Given the description of an element on the screen output the (x, y) to click on. 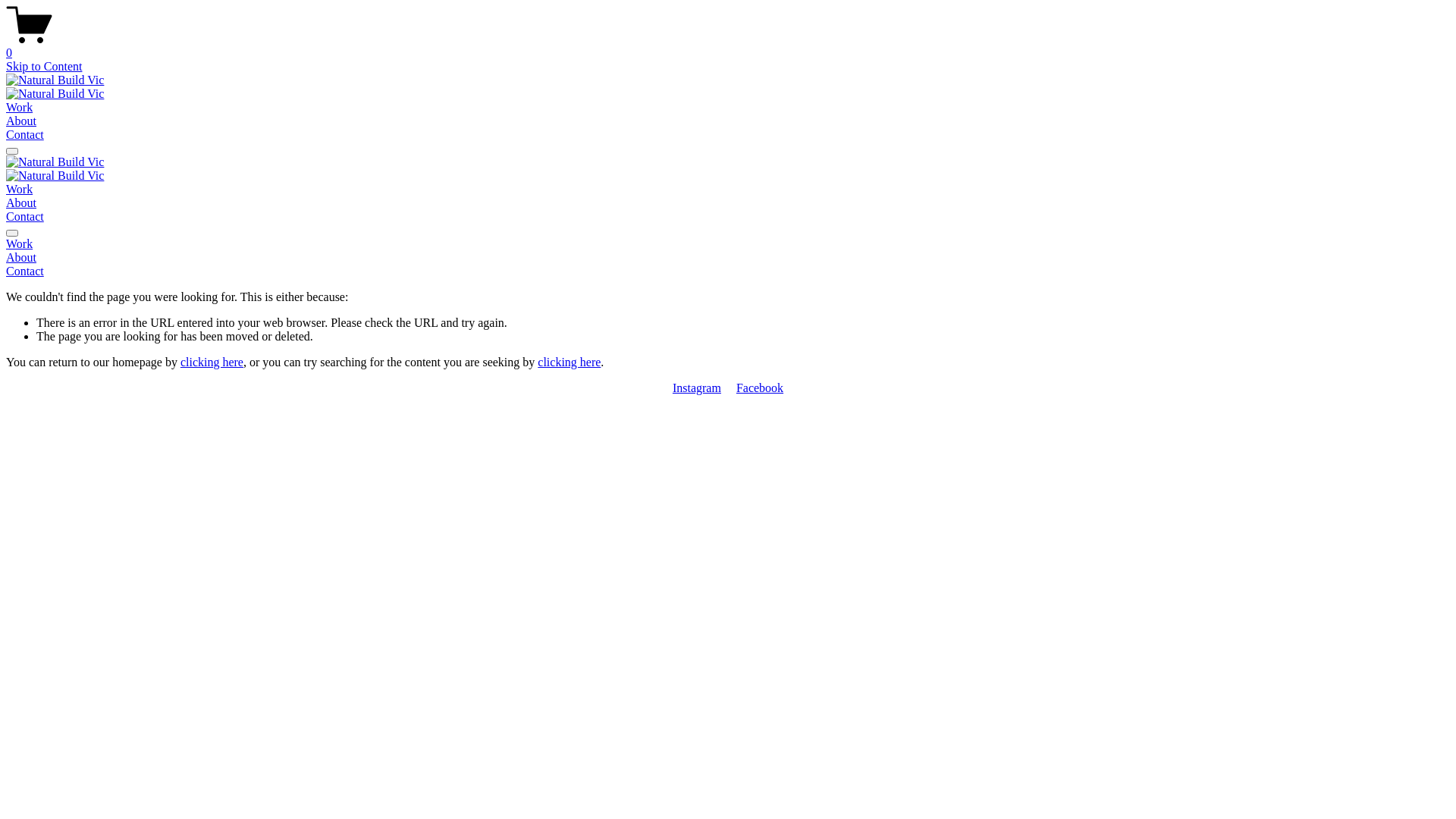
About Element type: text (21, 202)
Work Element type: text (19, 106)
0 Element type: text (727, 45)
clicking here Element type: text (211, 361)
Work Element type: text (727, 244)
About Element type: text (21, 120)
Contact Element type: text (24, 216)
clicking here Element type: text (568, 361)
Work Element type: text (19, 188)
Facebook Element type: text (759, 387)
Instagram Element type: text (696, 387)
Contact Element type: text (727, 271)
Contact Element type: text (24, 134)
Skip to Content Element type: text (43, 65)
About Element type: text (727, 257)
